Given the description of an element on the screen output the (x, y) to click on. 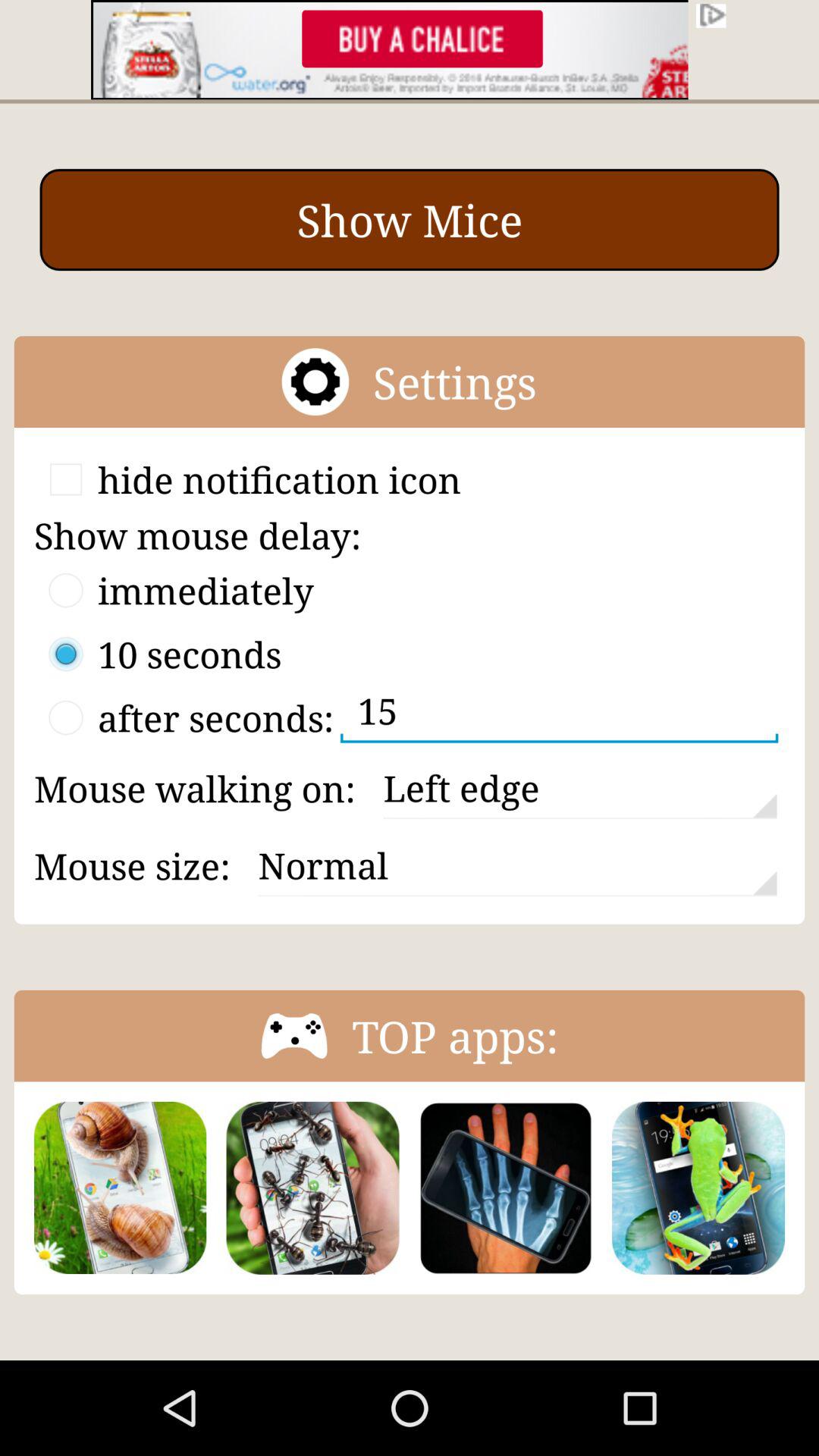
go to that particular app (697, 1187)
